Given the description of an element on the screen output the (x, y) to click on. 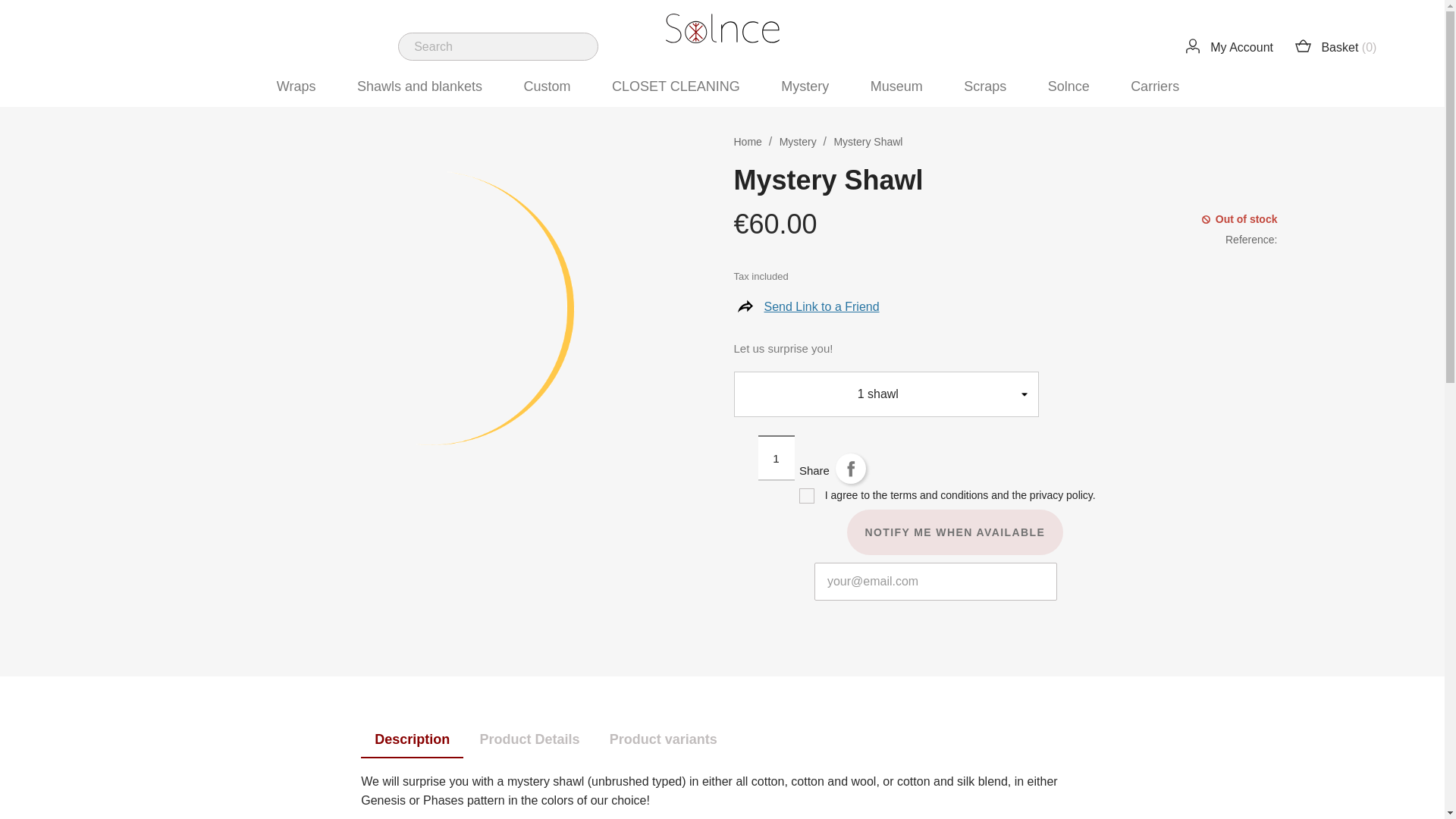
CLOSET CLEANING (676, 87)
Carriers (1154, 87)
NOTIFY ME WHEN AVAILABLE (954, 532)
Log in to your customer account (1227, 47)
Solnce (1069, 87)
My Account (1227, 47)
Scraps (984, 87)
Description (412, 739)
Custom (547, 87)
Home (749, 141)
